Given the description of an element on the screen output the (x, y) to click on. 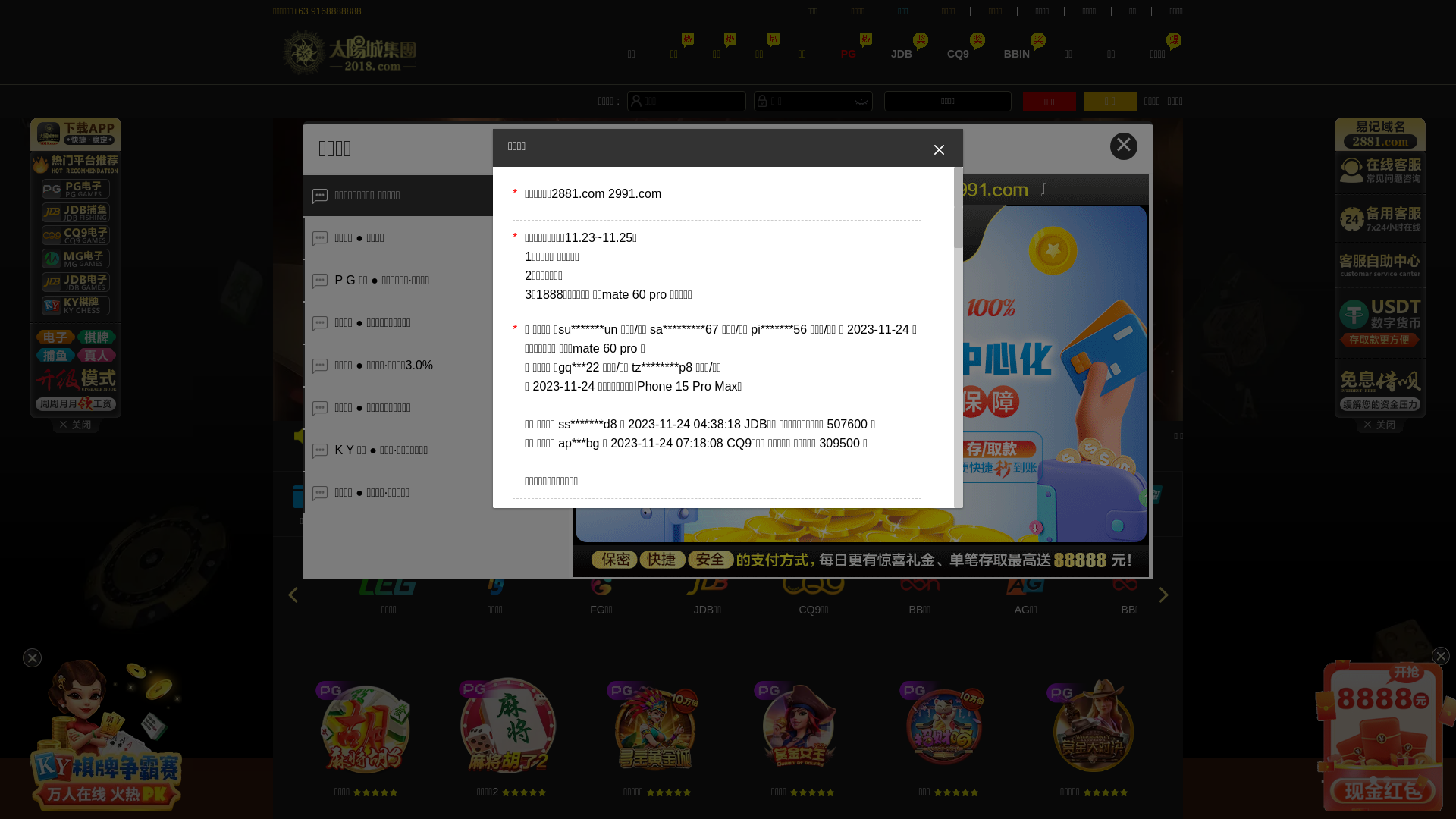
JDB Element type: text (901, 52)
PG Element type: text (848, 52)
CQ9 Element type: text (957, 52)
BBIN Element type: text (1016, 52)
